Given the description of an element on the screen output the (x, y) to click on. 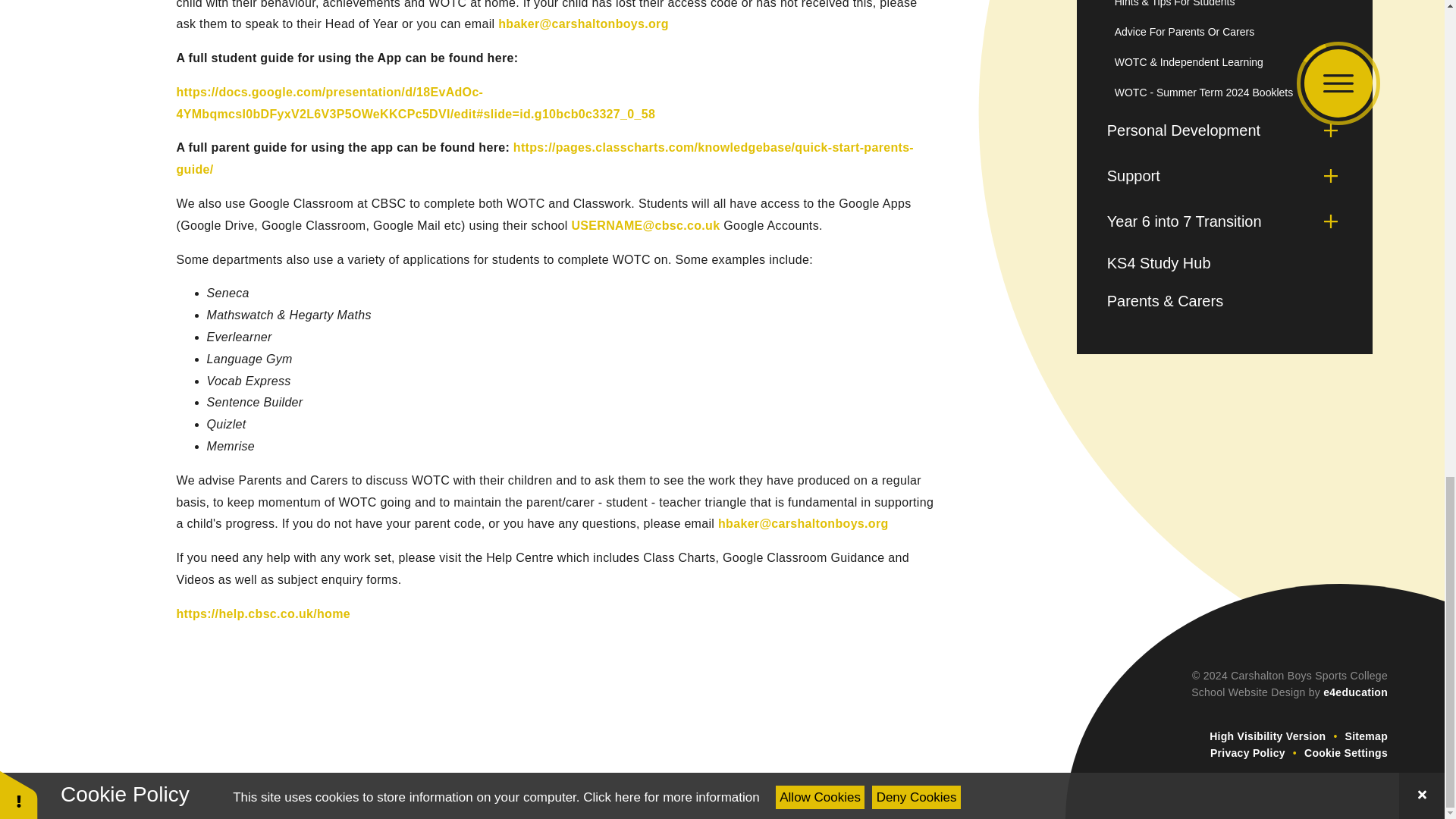
Cookie Settings (1345, 752)
